Given the description of an element on the screen output the (x, y) to click on. 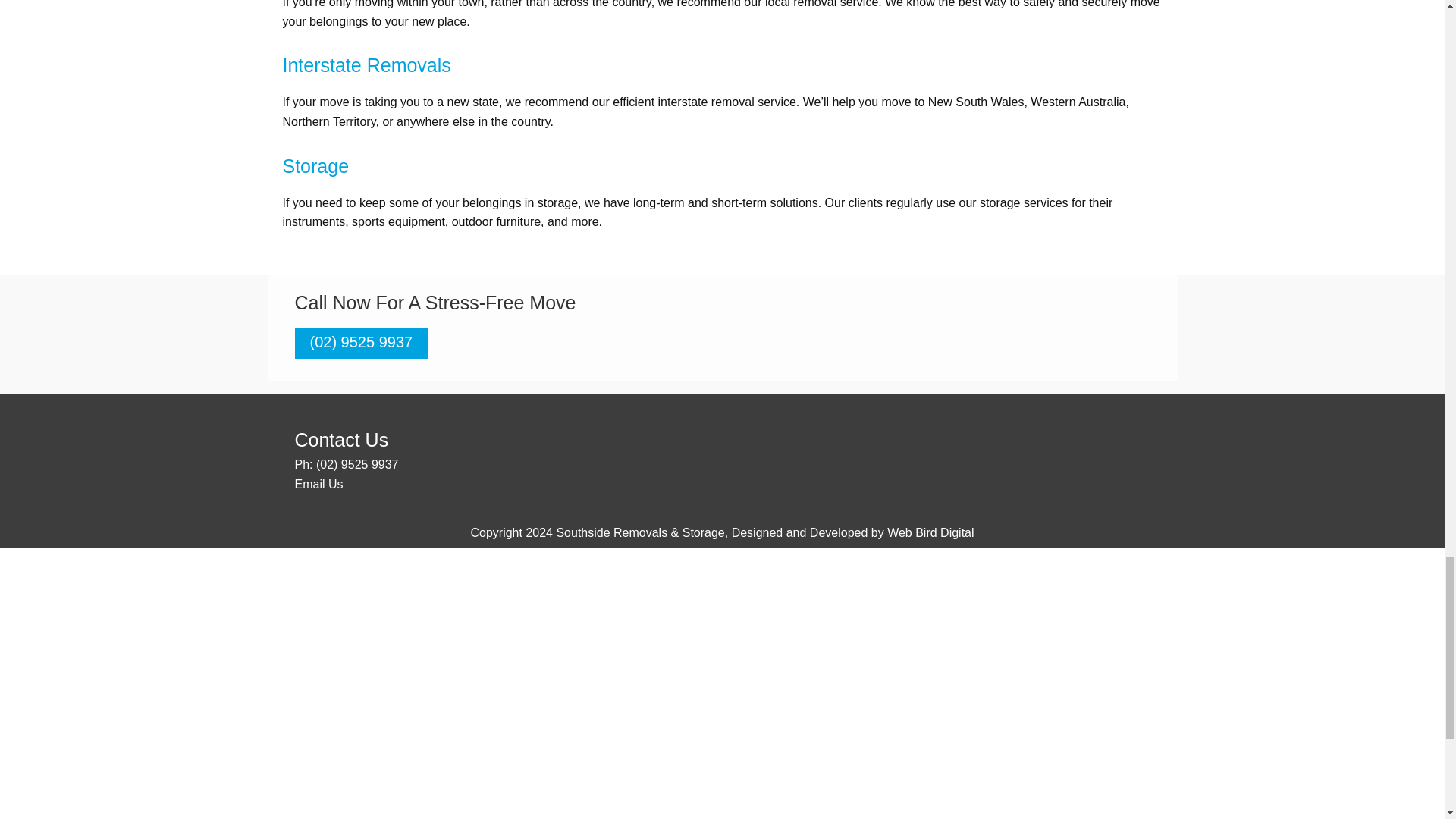
Contact us via email (318, 483)
Web Bird Digital (930, 532)
Email Us (318, 483)
Web Bird Digital (930, 532)
